Given the description of an element on the screen output the (x, y) to click on. 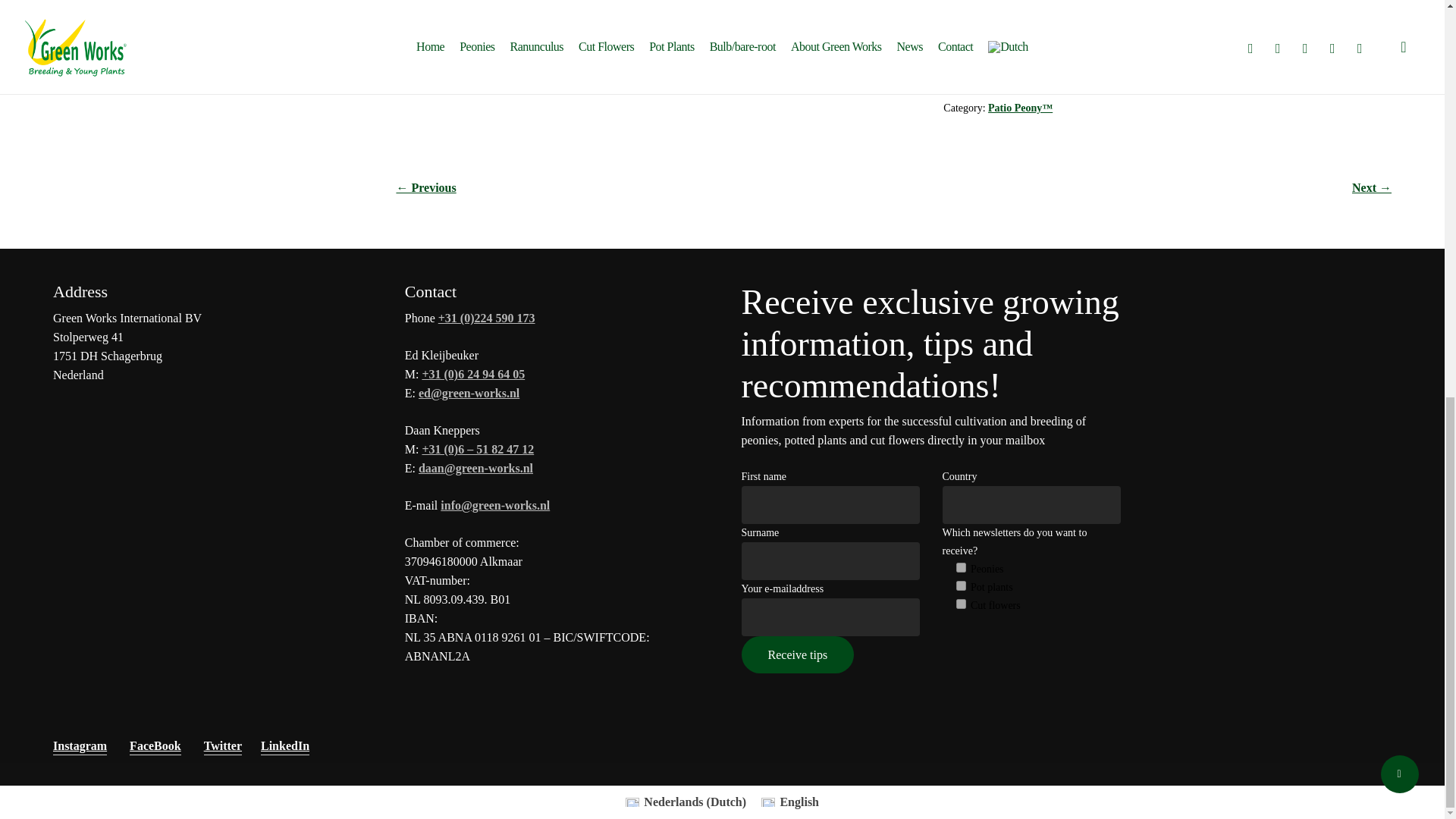
Pot plants (960, 585)
Receive tips (797, 654)
Cut flowers (960, 603)
Peonies (960, 567)
